Given the description of an element on the screen output the (x, y) to click on. 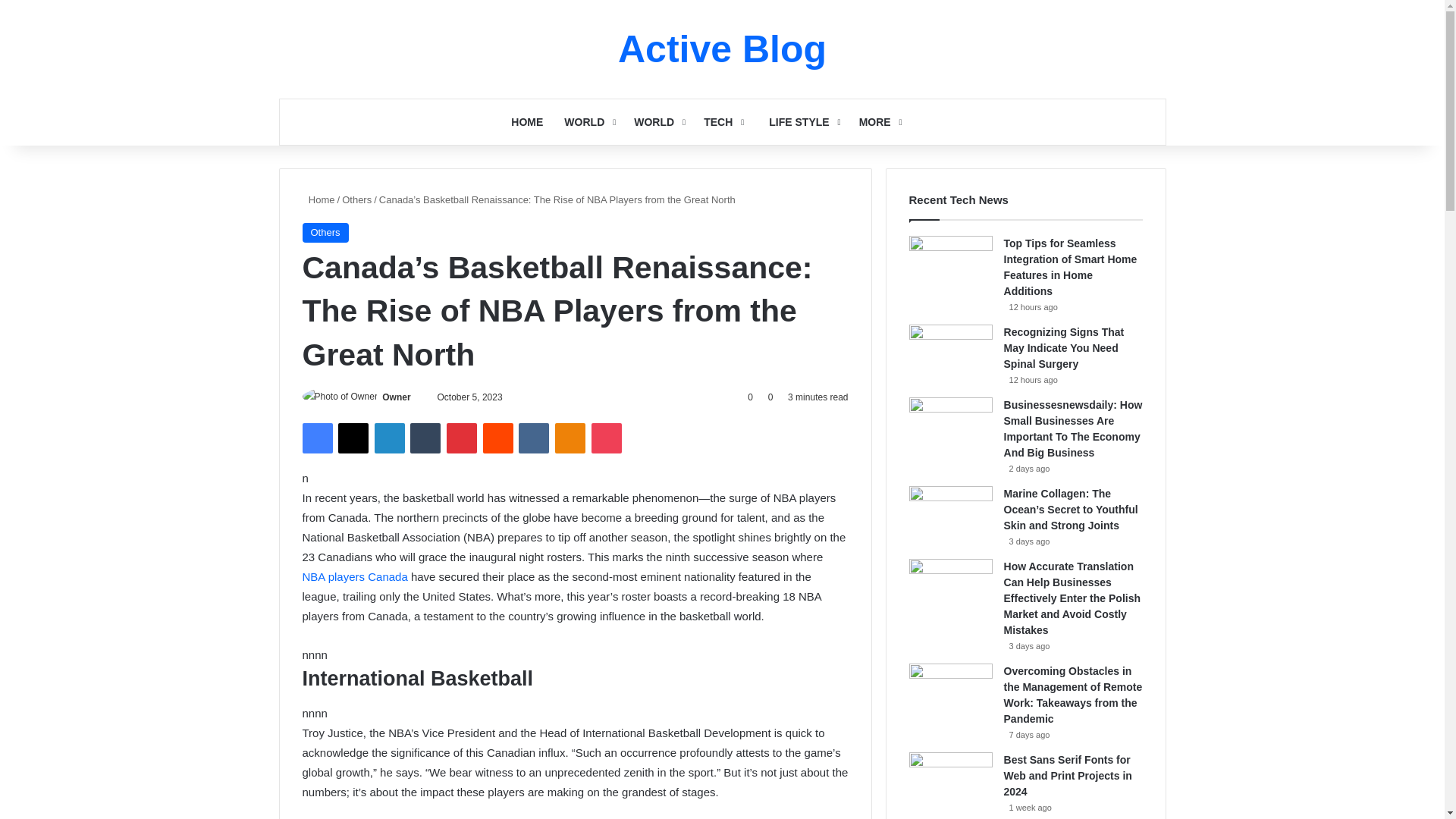
X (352, 438)
HOME (526, 121)
VKontakte (533, 438)
WORLD (588, 121)
Home (317, 199)
Tumblr (425, 438)
Facebook (316, 438)
Owner (395, 397)
LIFE STYLE (799, 121)
Active Blog (722, 48)
